Given the description of an element on the screen output the (x, y) to click on. 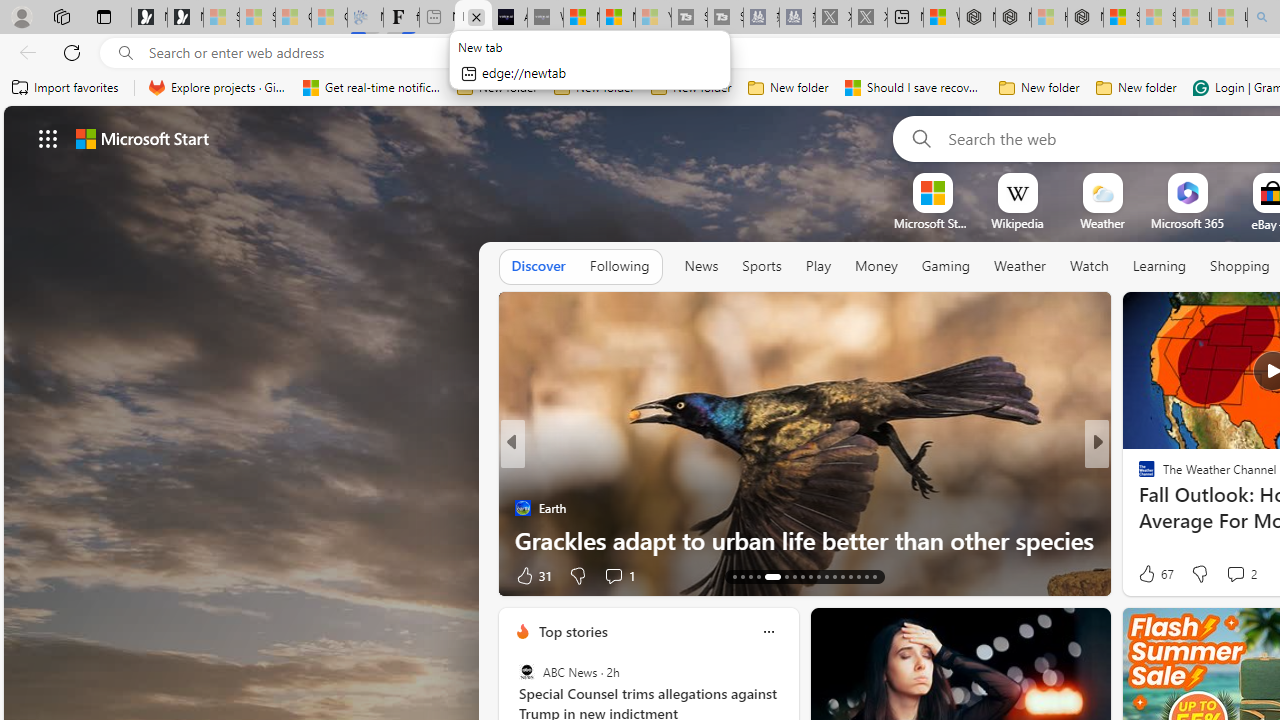
Following (619, 265)
Cents + Purpose (1138, 507)
20 Like (1149, 574)
View comments 124 Comment (1247, 574)
Play (817, 265)
New folder (1136, 88)
Class: control (47, 138)
490 Like (1151, 574)
Should I save recovered Word documents? - Microsoft Support (913, 88)
Discover (538, 265)
AutomationID: tab-18 (742, 576)
View comments 3 Comment (1234, 575)
Shopping (1240, 265)
